Given the description of an element on the screen output the (x, y) to click on. 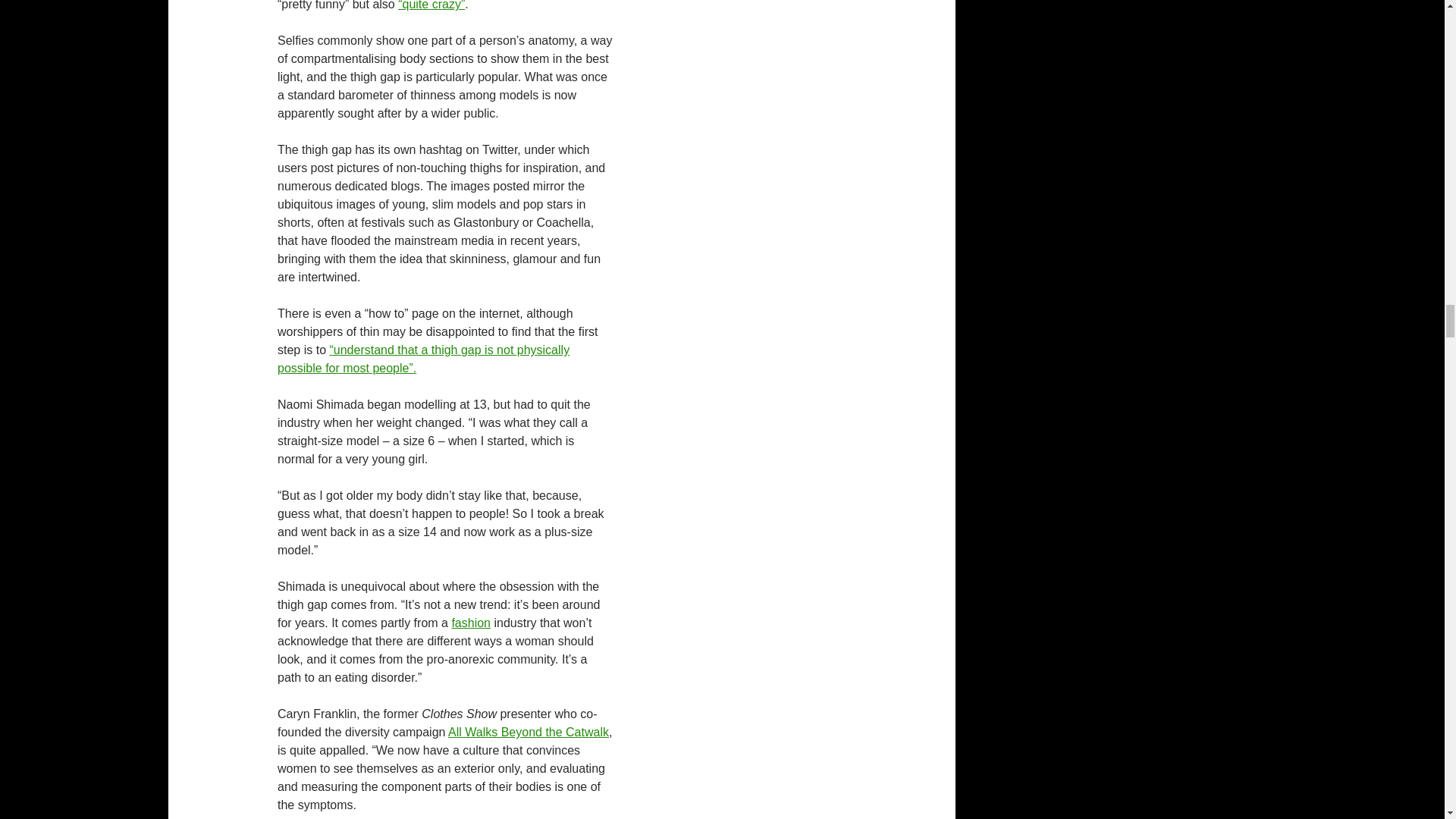
More from the Guardian on Fashion (470, 622)
